Given the description of an element on the screen output the (x, y) to click on. 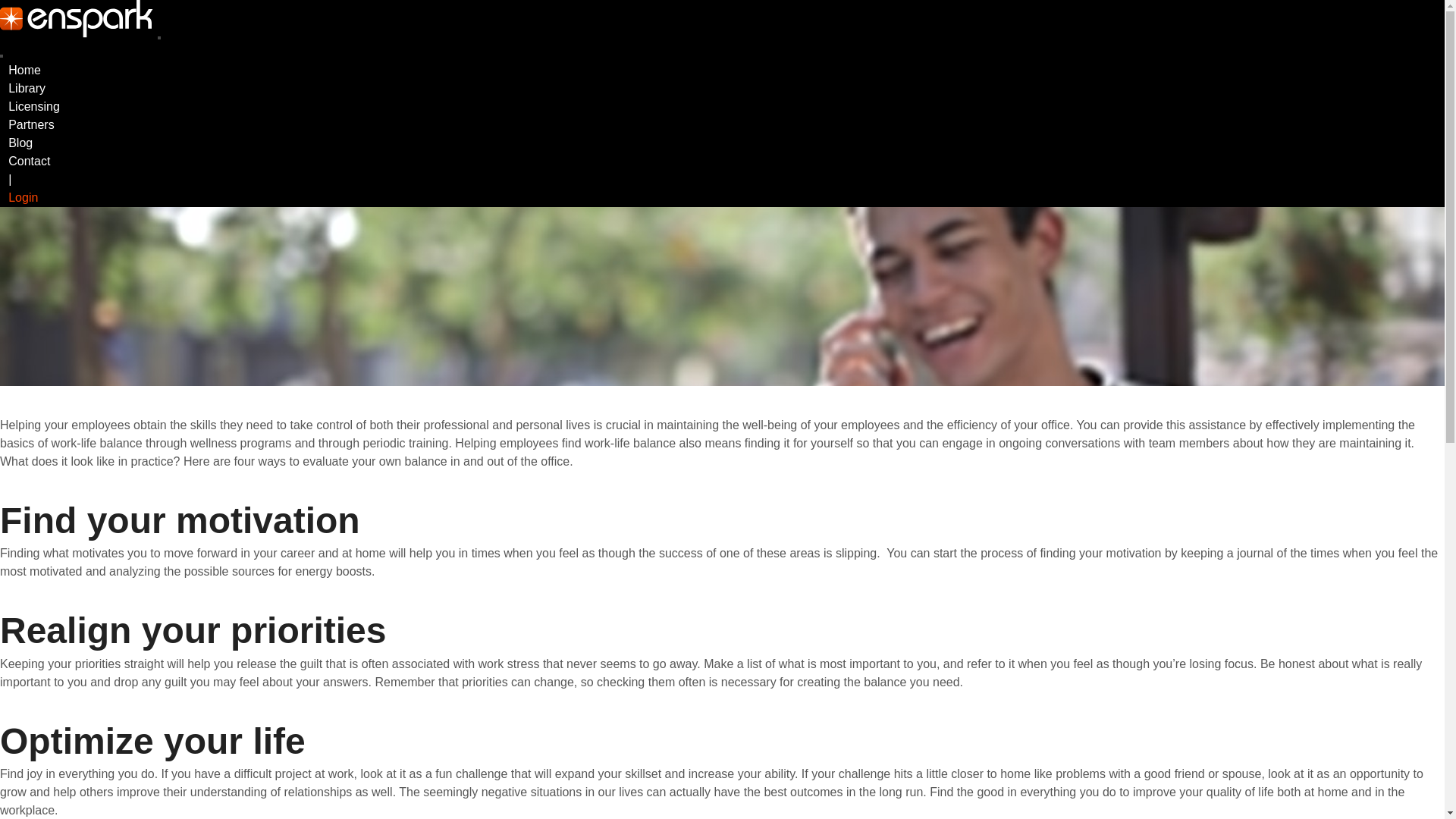
Licensing (34, 105)
Library (26, 87)
Contact (29, 160)
Partners (31, 124)
